Given the description of an element on the screen output the (x, y) to click on. 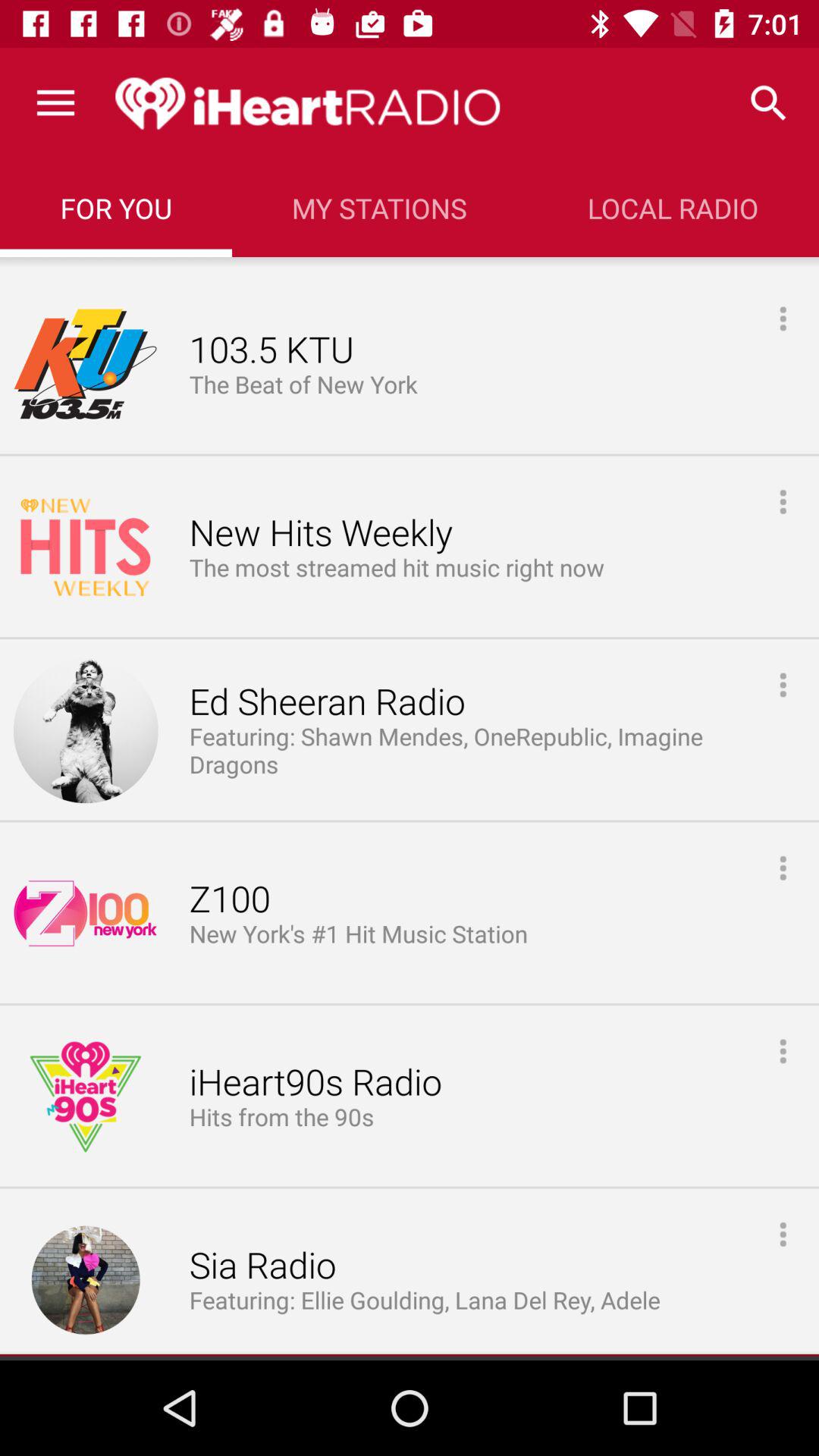
click hits from the (281, 1117)
